Given the description of an element on the screen output the (x, y) to click on. 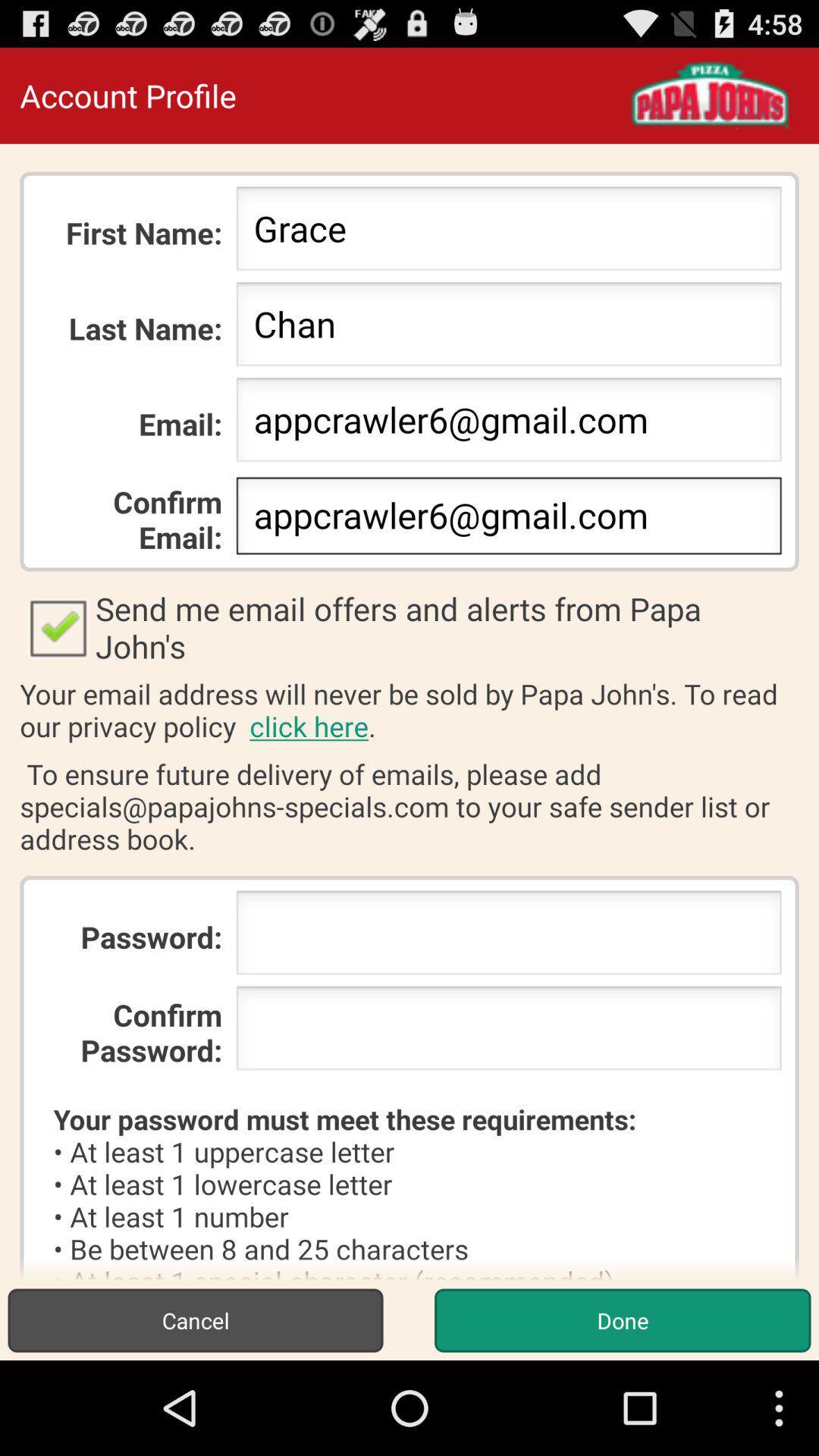
a text box for password confirmation (508, 1032)
